Given the description of an element on the screen output the (x, y) to click on. 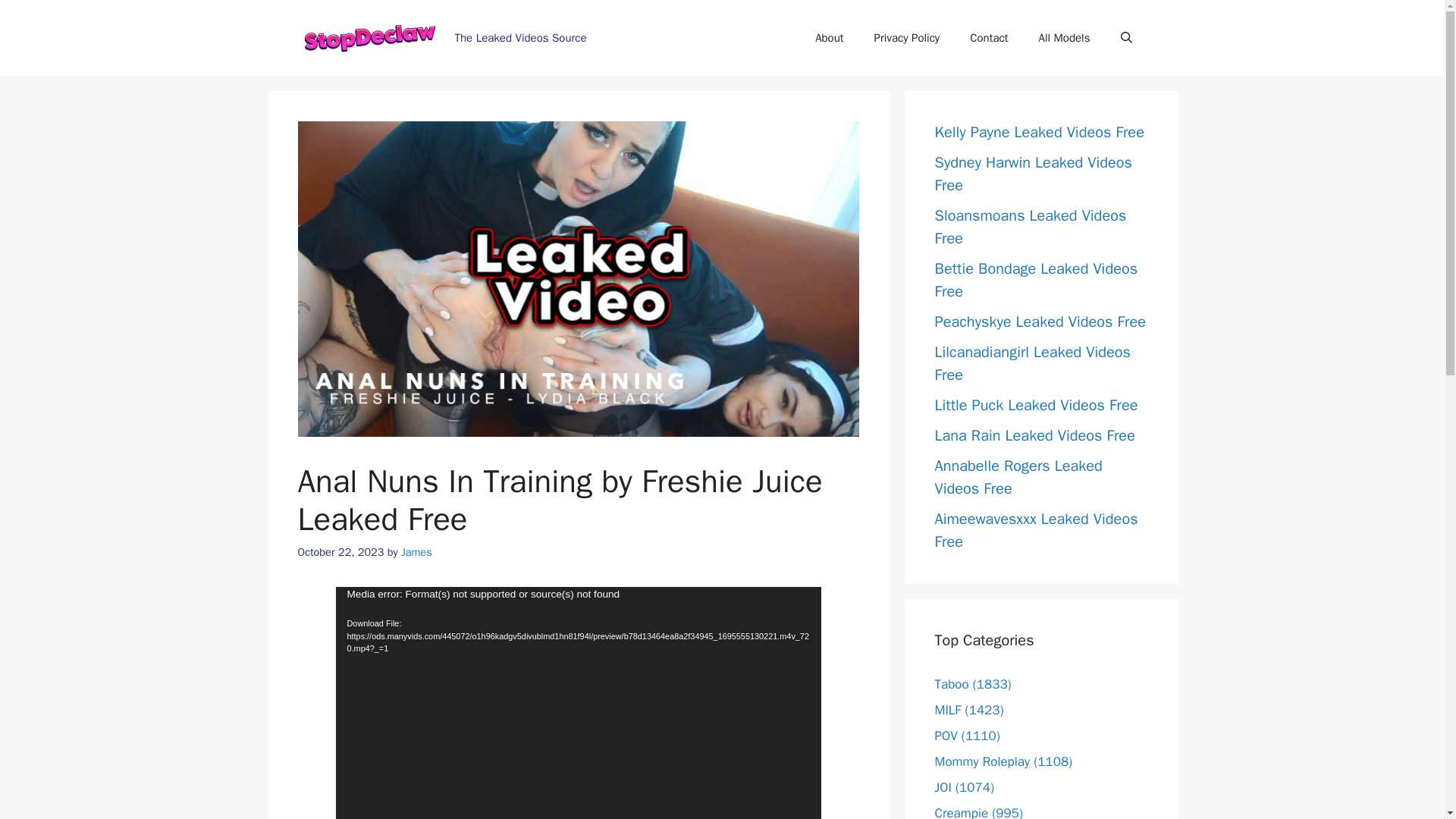
Aimeewavesxxx Leaked Videos Free (1035, 530)
Lana Rain Leaked Videos Free (1034, 435)
Contact (989, 37)
Kelly Payne Leaked Videos Free (1038, 131)
Annabelle Rogers Leaked Videos Free (1018, 476)
Little Puck Leaked Videos Free (1035, 404)
All Models (1064, 37)
Lilcanadiangirl Leaked Videos Free (1031, 363)
About (829, 37)
Peachyskye Leaked Videos Free (1039, 321)
Sloansmoans Leaked Videos Free (1029, 227)
Sydney Harwin Leaked Videos Free (1032, 173)
Bettie Bondage Leaked Videos Free (1035, 280)
Privacy Policy (907, 37)
View all posts by James (416, 551)
